Given the description of an element on the screen output the (x, y) to click on. 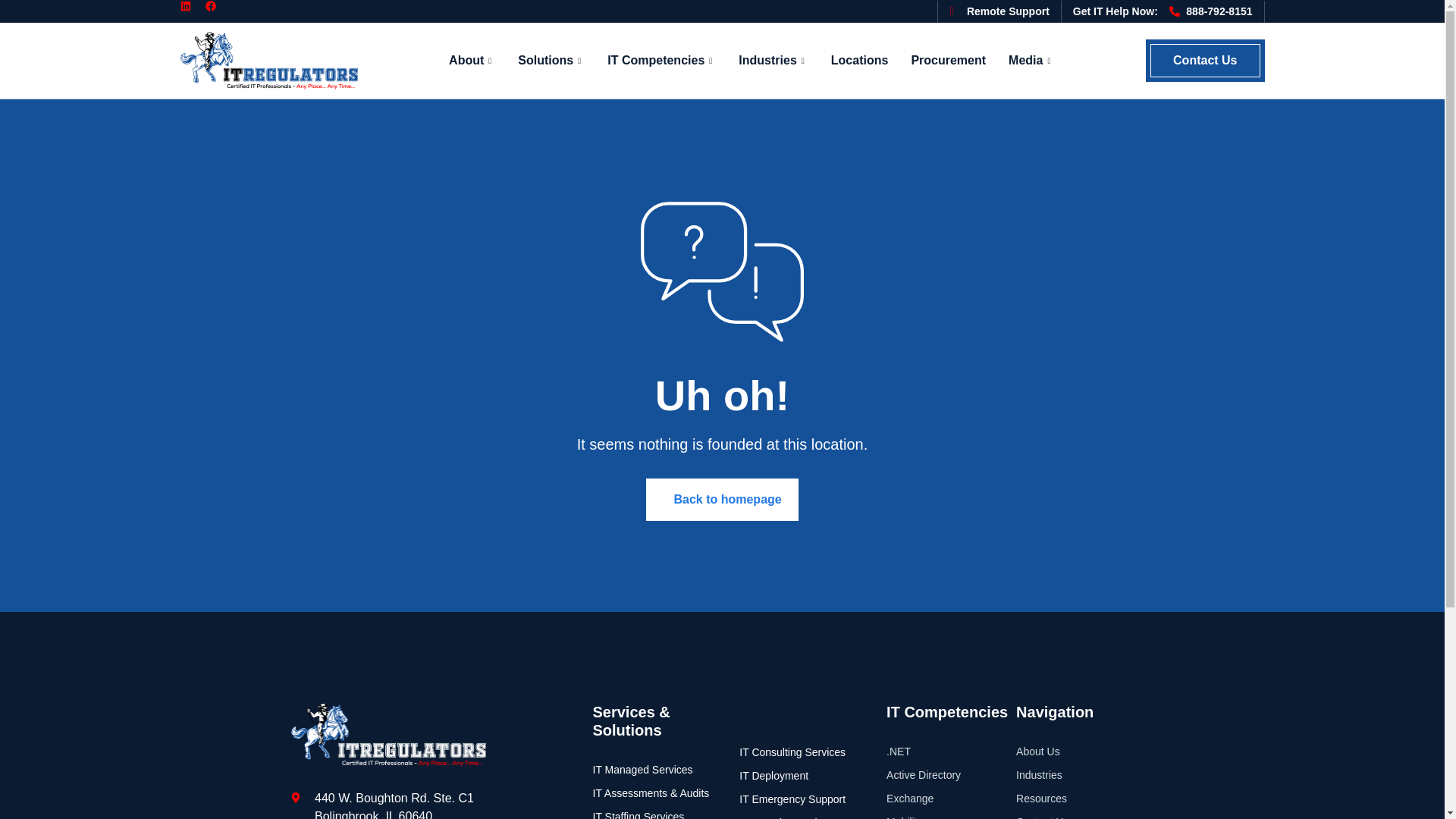
Solutions (550, 60)
About (472, 60)
888-792-8151 (1210, 10)
Remote Support (998, 10)
